Given the description of an element on the screen output the (x, y) to click on. 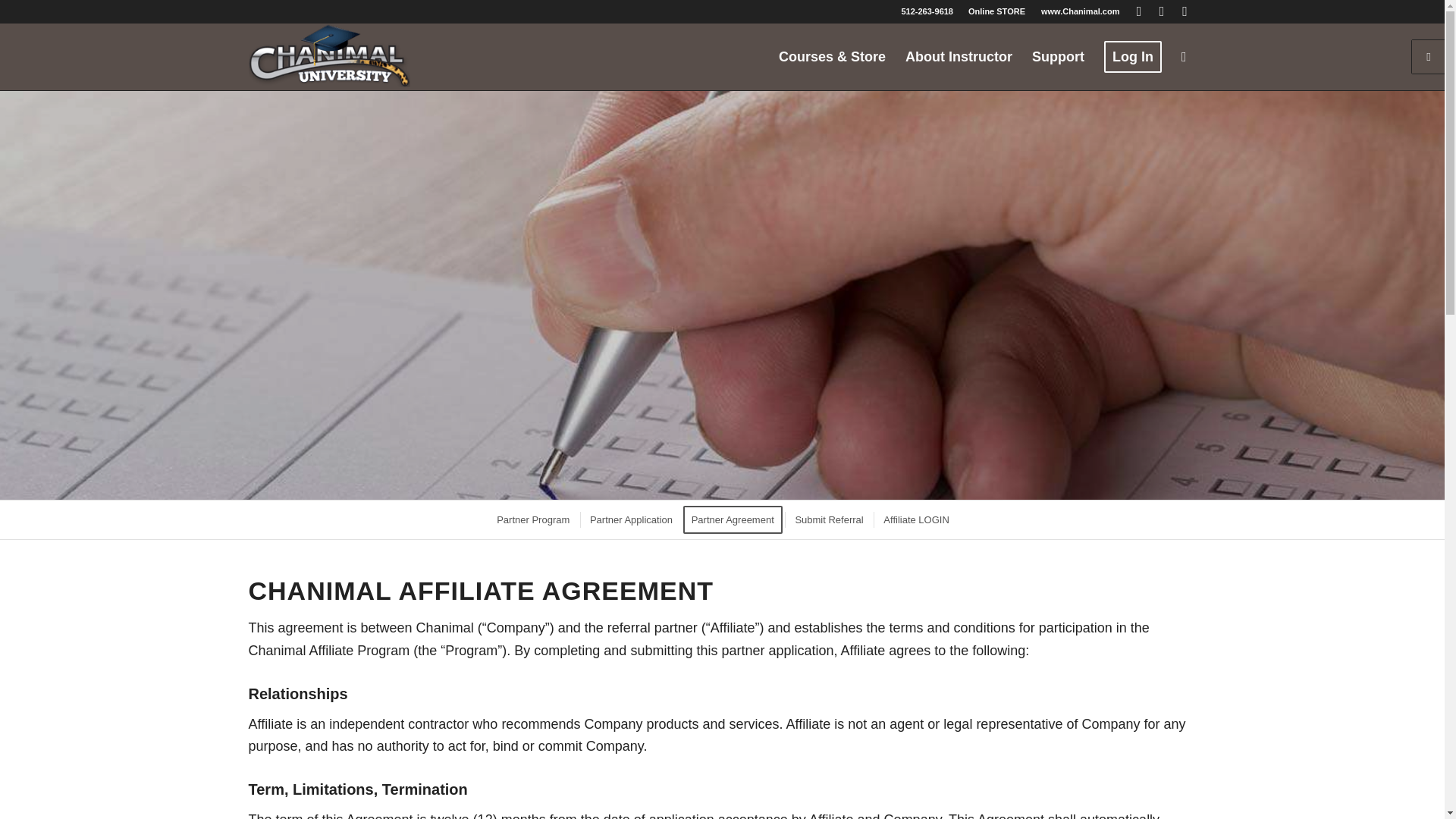
LinkedIn (1162, 11)
Youtube (1184, 11)
LMS-Logo2 (329, 56)
Partner Program (531, 519)
Log In (1133, 56)
www.Chanimal.com (1080, 11)
Submit Referral (827, 519)
About Instructor (958, 56)
Facebook (1139, 11)
Partner Agreement (732, 519)
Affiliate LOGIN (914, 519)
Online STORE (996, 11)
Support (1058, 56)
Partner Application (629, 519)
